Given the description of an element on the screen output the (x, y) to click on. 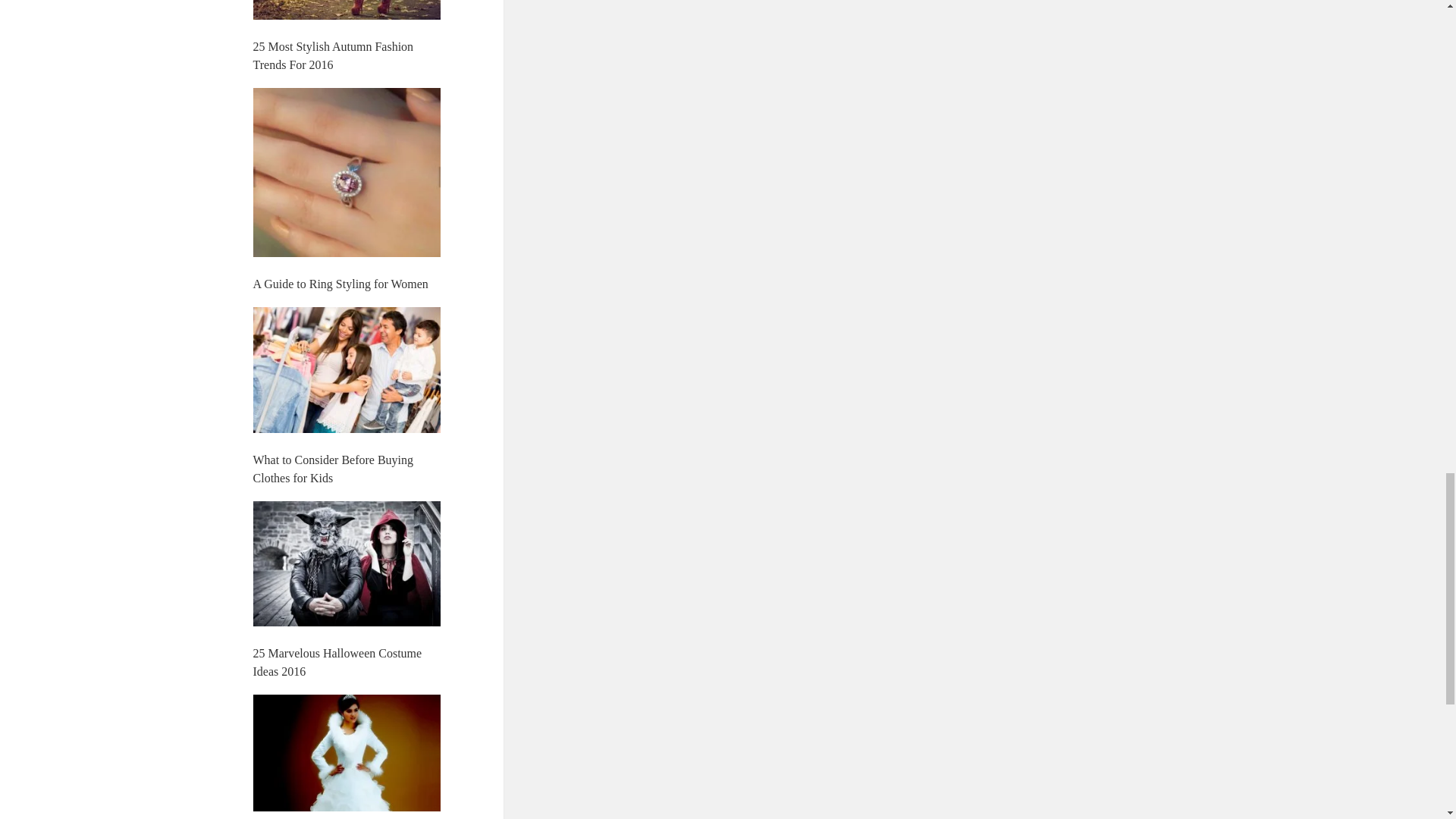
25 Most Stylish Autumn Fashion Trends For 2016 (333, 55)
What to Consider Before Buying Clothes for Kids (333, 468)
25 Marvelous Halloween Costume Ideas 2016 (337, 662)
A Guide to Ring Styling for Women (340, 283)
